Given the description of an element on the screen output the (x, y) to click on. 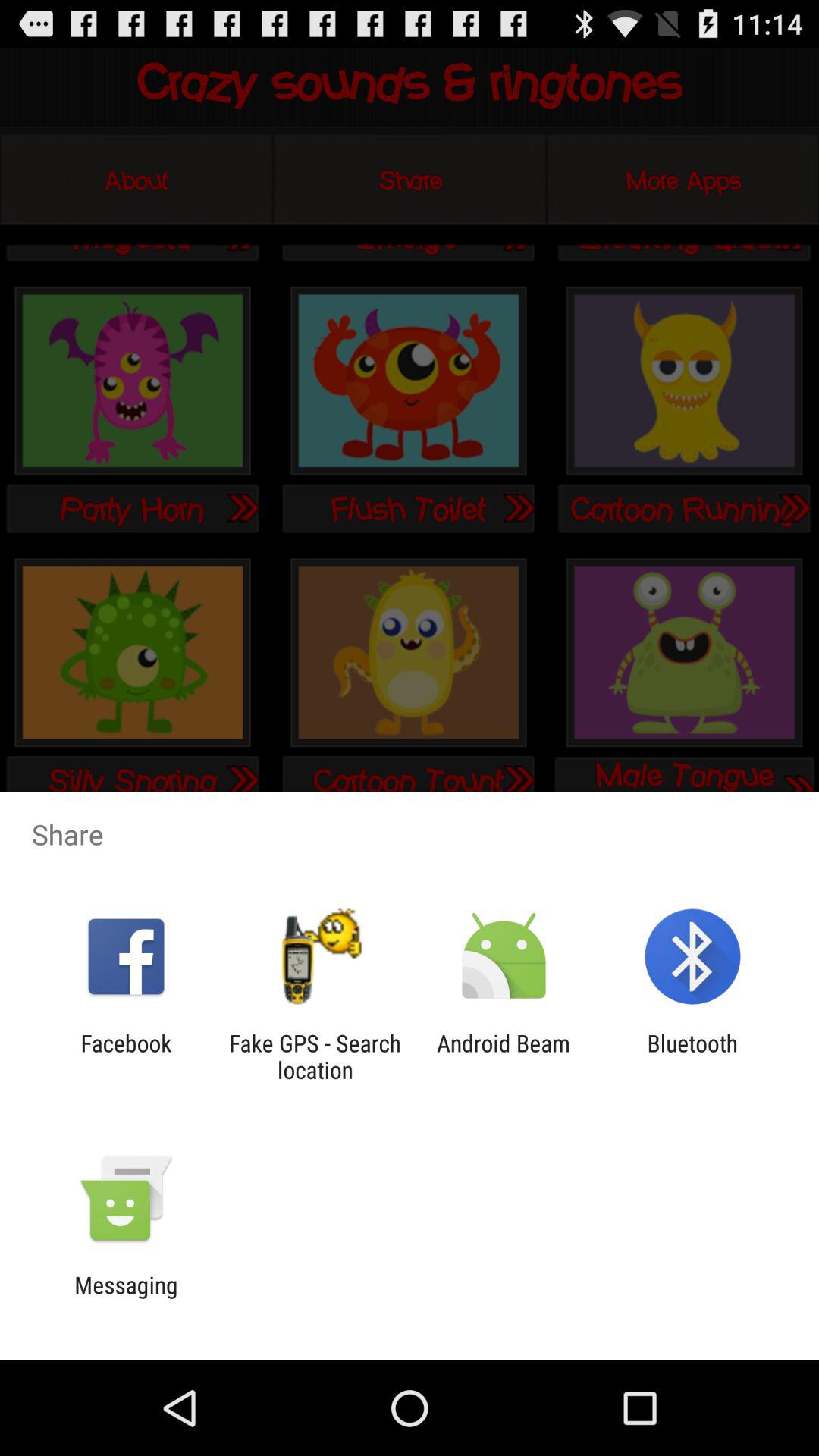
turn off item next to android beam icon (692, 1056)
